Given the description of an element on the screen output the (x, y) to click on. 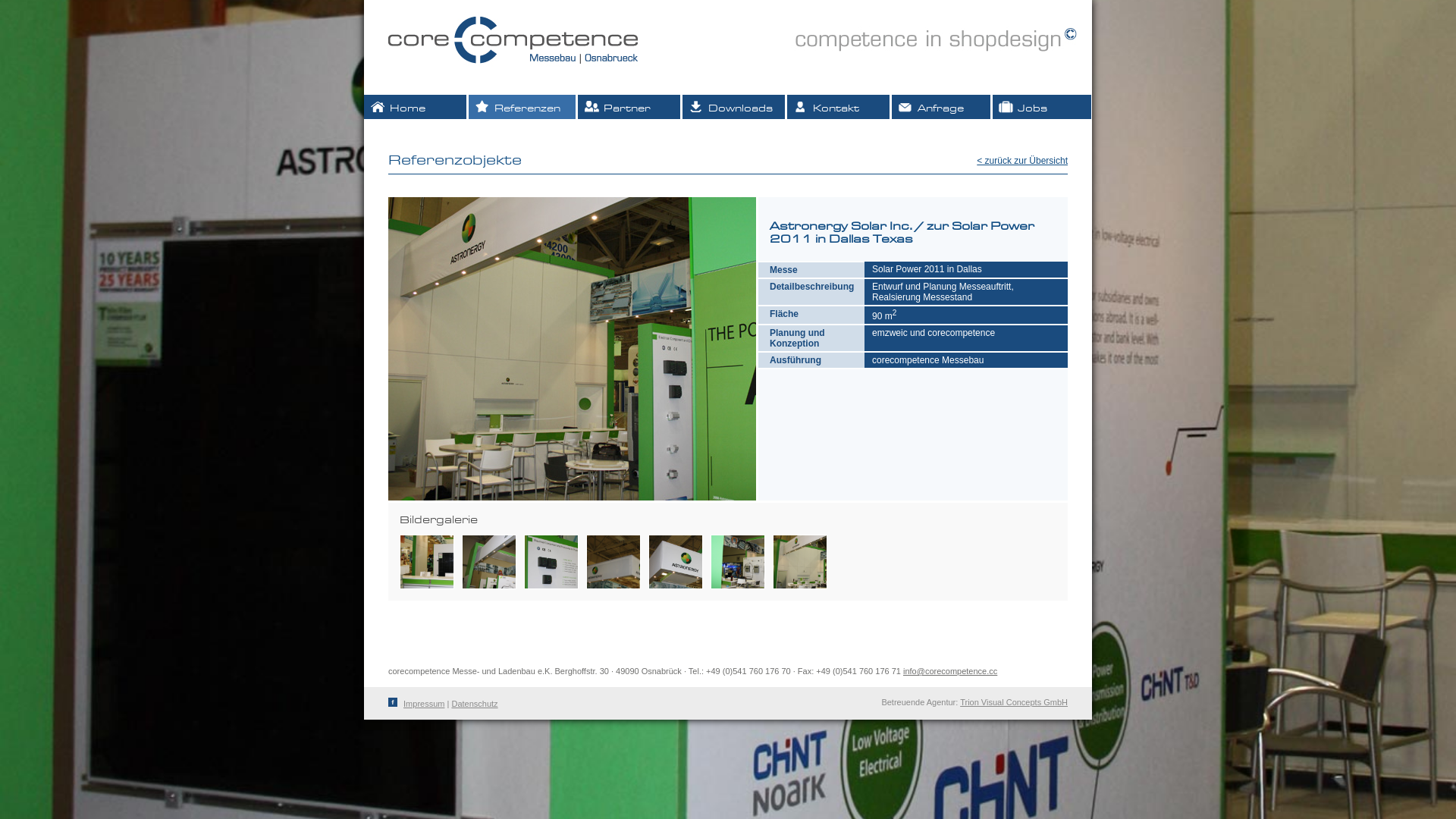
Partner Element type: text (628, 106)
Home Element type: text (415, 106)
Anfrage Element type: text (940, 106)
Downloads Element type: text (733, 106)
Datenschutz Element type: text (474, 703)
Kontakt Element type: text (838, 106)
Trion Visual Concepts GmbH Element type: text (1013, 701)
info@corecompetence.cc Element type: text (950, 670)
Impressum Element type: text (423, 703)
zur Startseite Element type: hover (513, 64)
Jobs Element type: text (1041, 106)
Referenzen Element type: text (521, 106)
